Given the description of an element on the screen output the (x, y) to click on. 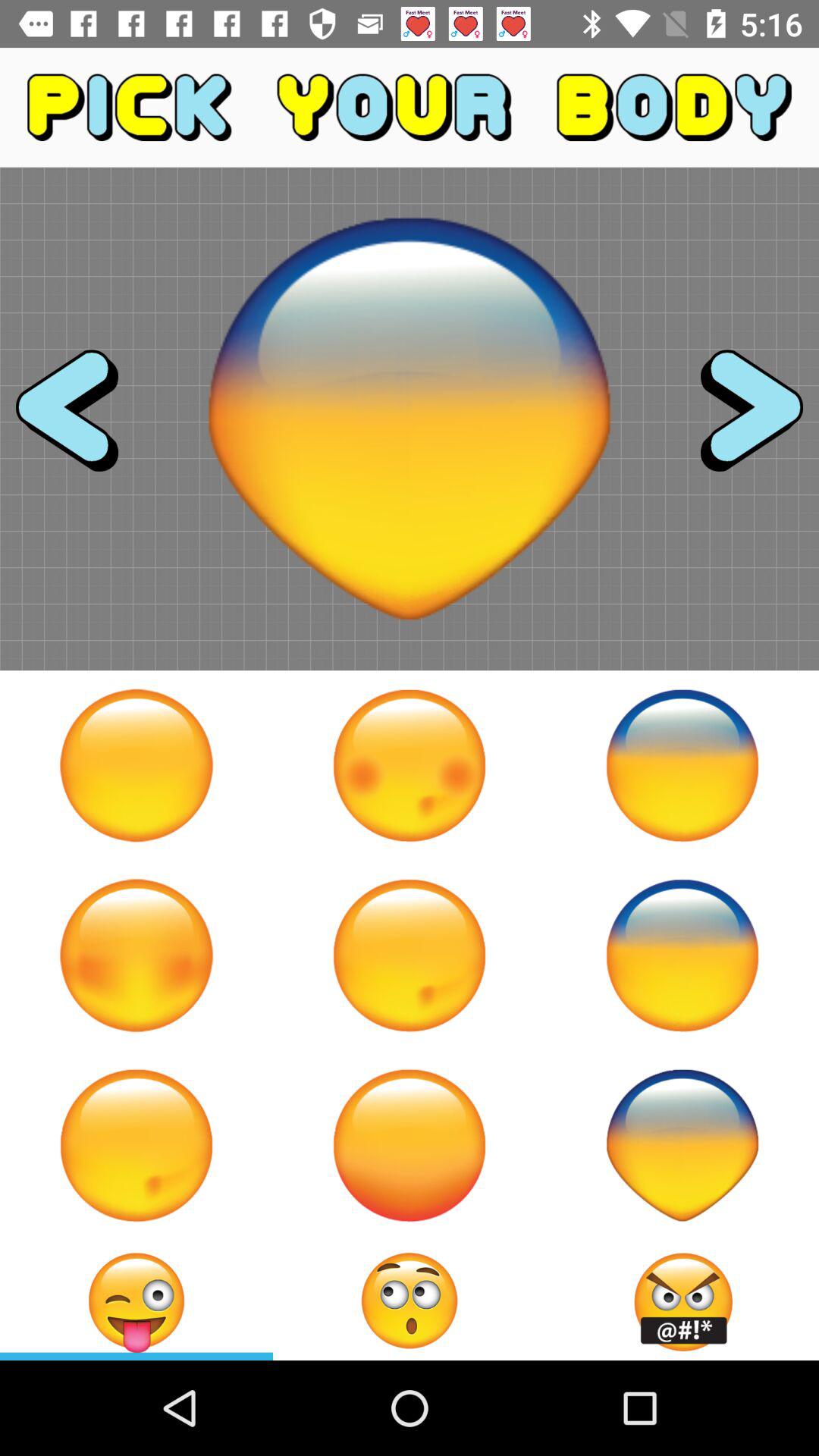
choose item at the top left corner (81, 418)
